Given the description of an element on the screen output the (x, y) to click on. 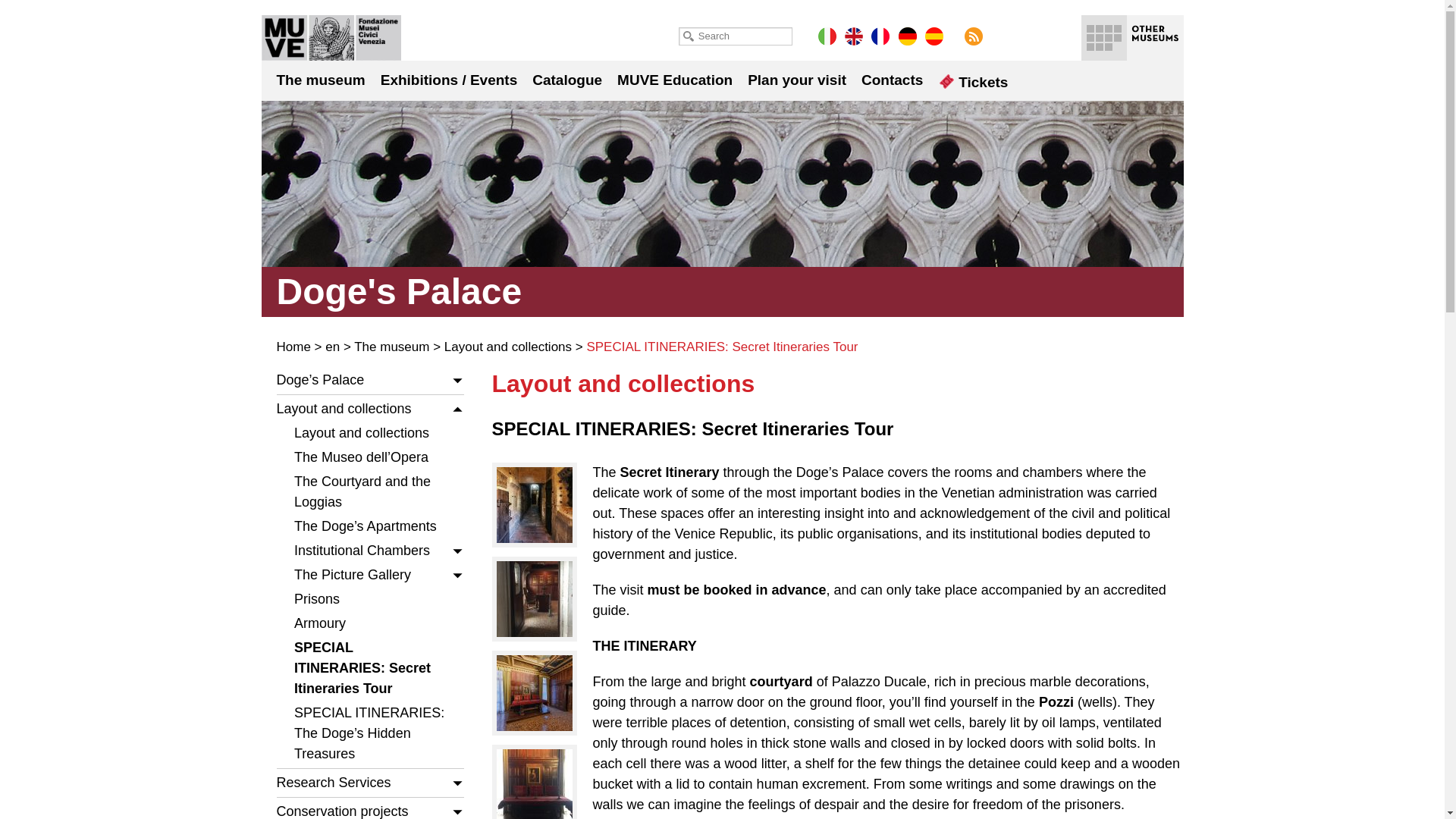
MUVE Education (674, 79)
Vai a Palazzo Ducale. (293, 346)
Plan your visit (796, 79)
Palazzo Ducale (330, 37)
The museum (319, 79)
Vai a Layout and collections. (508, 346)
Vai a en. (331, 346)
Palazzo Ducale (330, 37)
Catalogue (567, 79)
Vai a The museum. (391, 346)
